Given the description of an element on the screen output the (x, y) to click on. 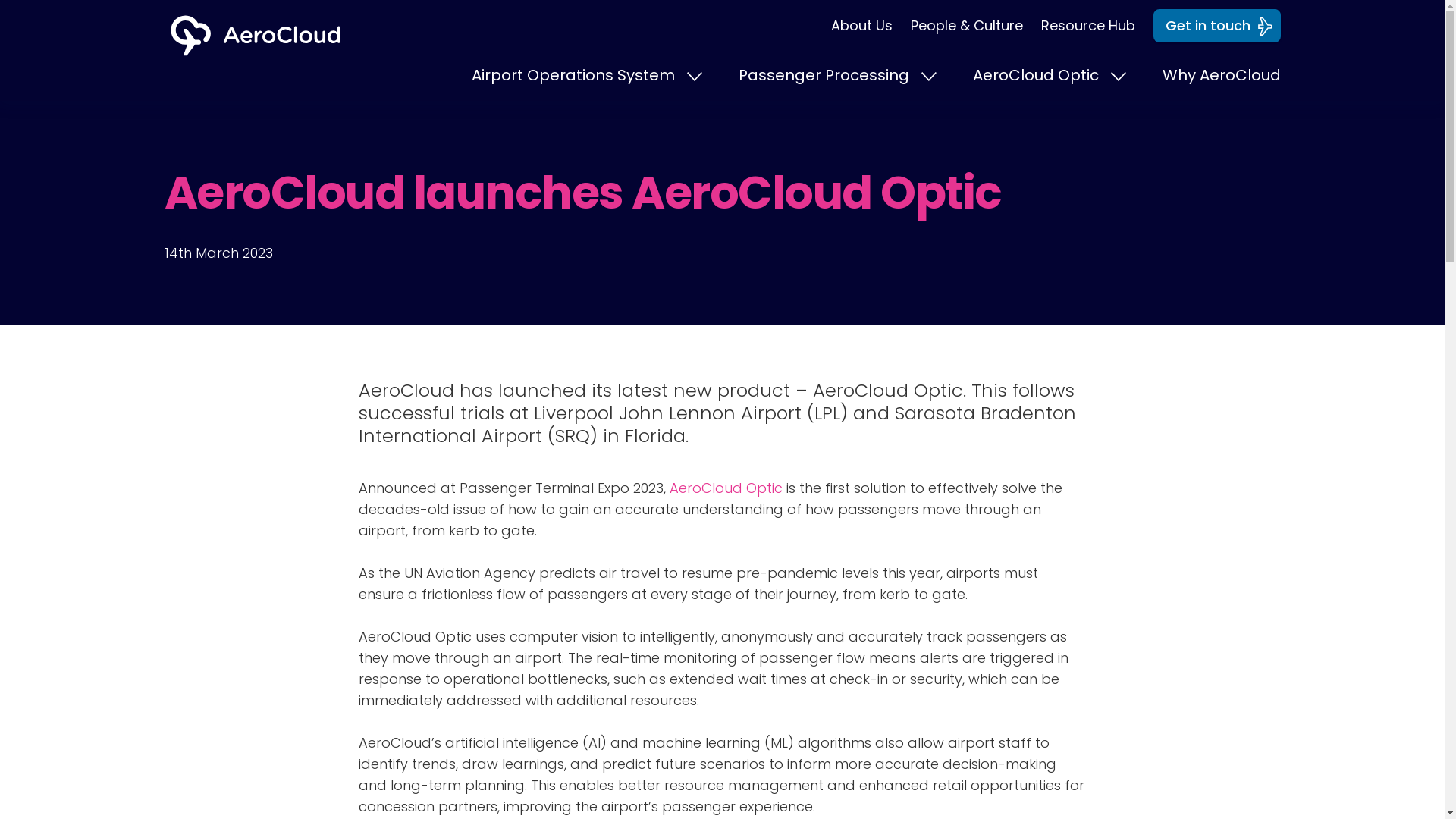
AeroCloud Optic (1048, 76)
Passenger Processing (837, 76)
Get in touch (1216, 25)
AeroCloud Optic (724, 487)
AeroCloud (405, 389)
About Us (852, 25)
Resource Hub (1078, 25)
Airport Operations System (586, 76)
UN Aviation Agency (468, 572)
Why AeroCloud (1220, 74)
